Given the description of an element on the screen output the (x, y) to click on. 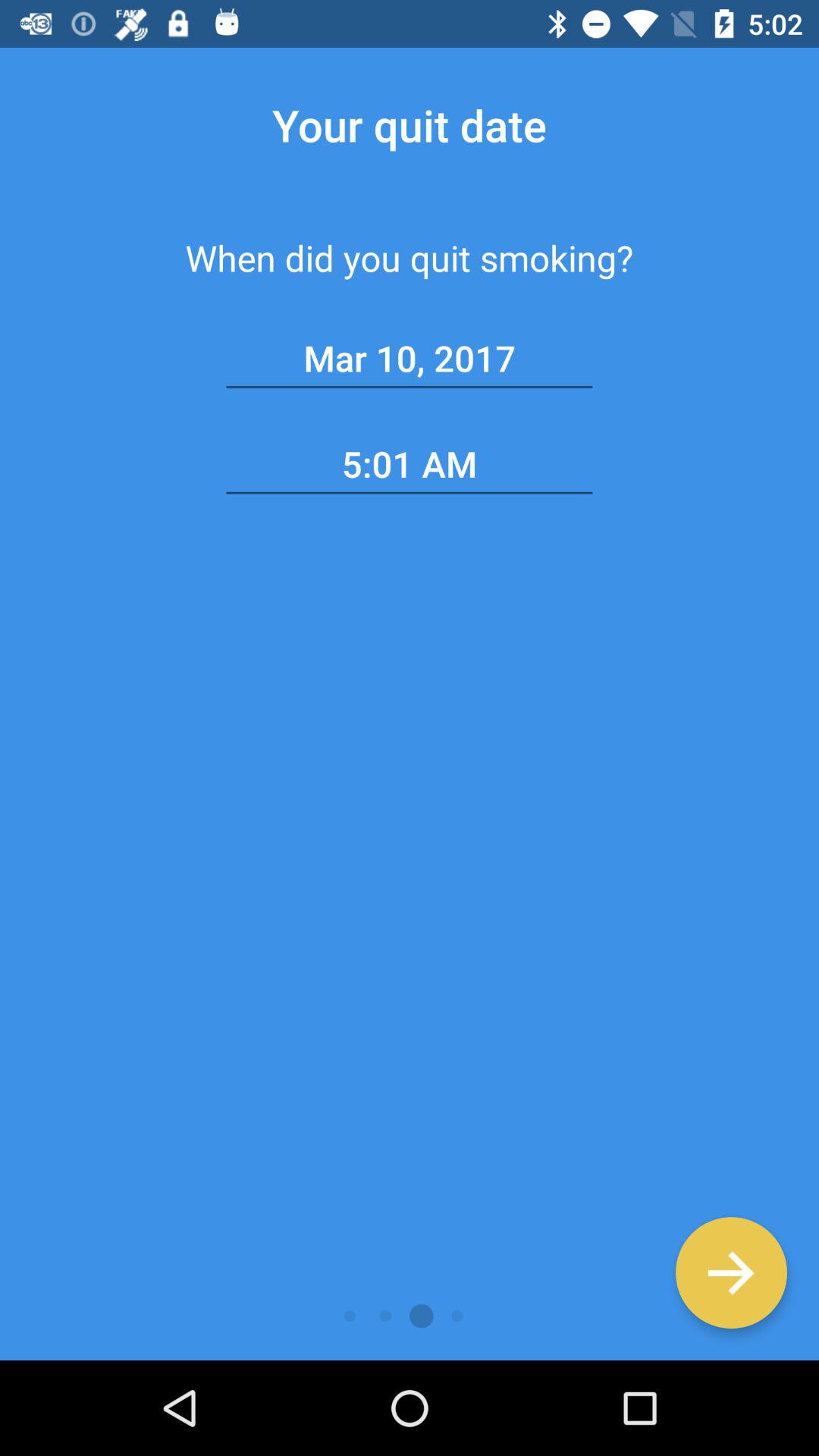
tap 5:01 am item (409, 464)
